Given the description of an element on the screen output the (x, y) to click on. 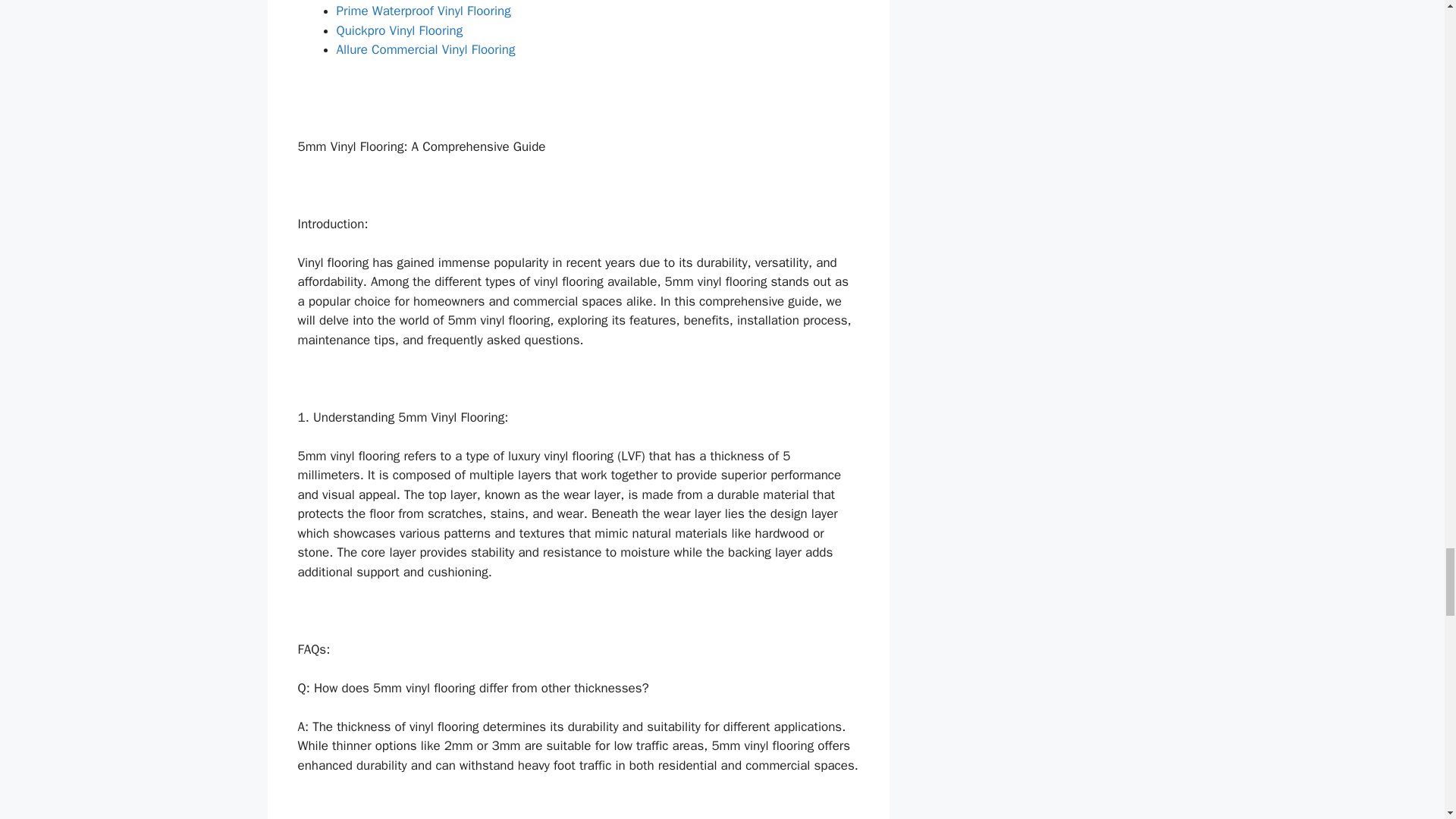
Prime Waterproof Vinyl Flooring (423, 10)
Allure Commercial Vinyl Flooring (425, 49)
Quickpro Vinyl Flooring (399, 30)
